Given the description of an element on the screen output the (x, y) to click on. 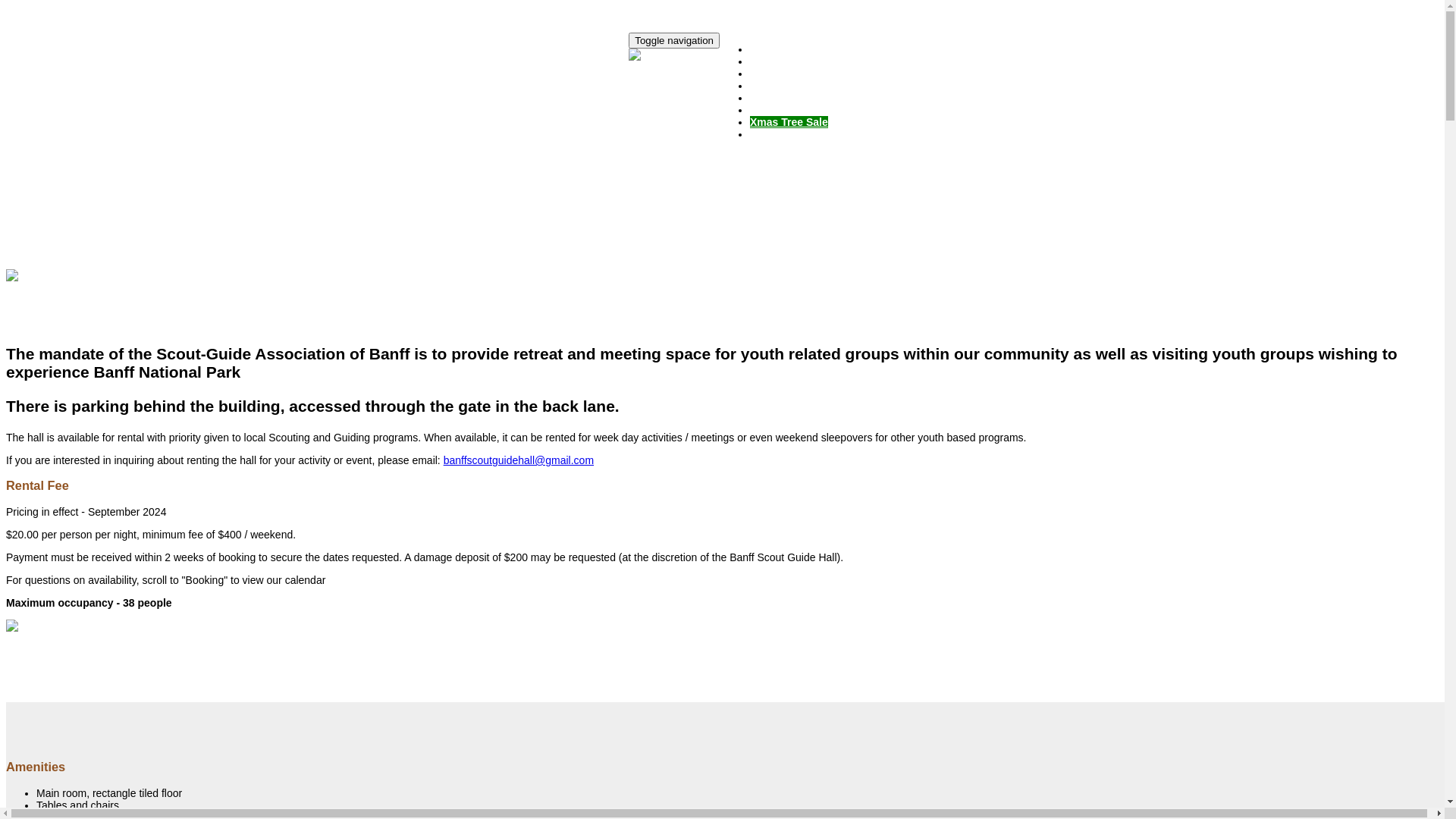
Booking Element type: text (770, 97)
banffscoutguidehall@gmail.com Element type: text (518, 460)
Amenities Element type: text (774, 73)
Photos Element type: text (767, 85)
Toggle navigation Element type: text (673, 40)
Contact Element type: text (769, 134)
About Element type: text (764, 61)
Xmas Tree Sale Element type: text (788, 122)
User Info Element type: text (772, 109)
